Given the description of an element on the screen output the (x, y) to click on. 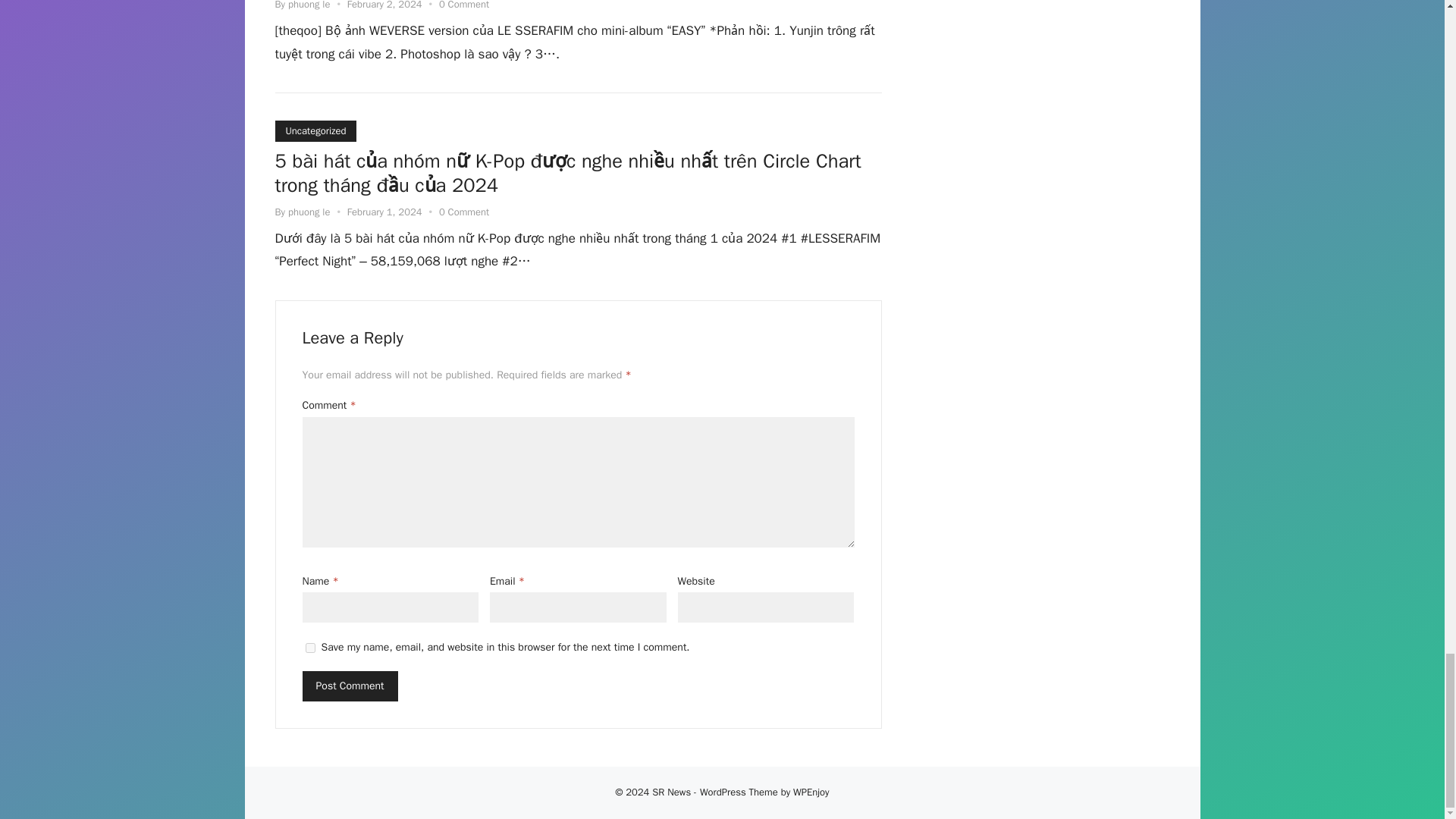
Uncategorized (315, 130)
Posts by phuong le (309, 5)
yes (309, 647)
0 Comment (464, 211)
Posts by phuong le (309, 211)
phuong le (309, 5)
Post Comment (349, 685)
0 Comment (464, 5)
phuong le (309, 211)
Post Comment (349, 685)
